Given the description of an element on the screen output the (x, y) to click on. 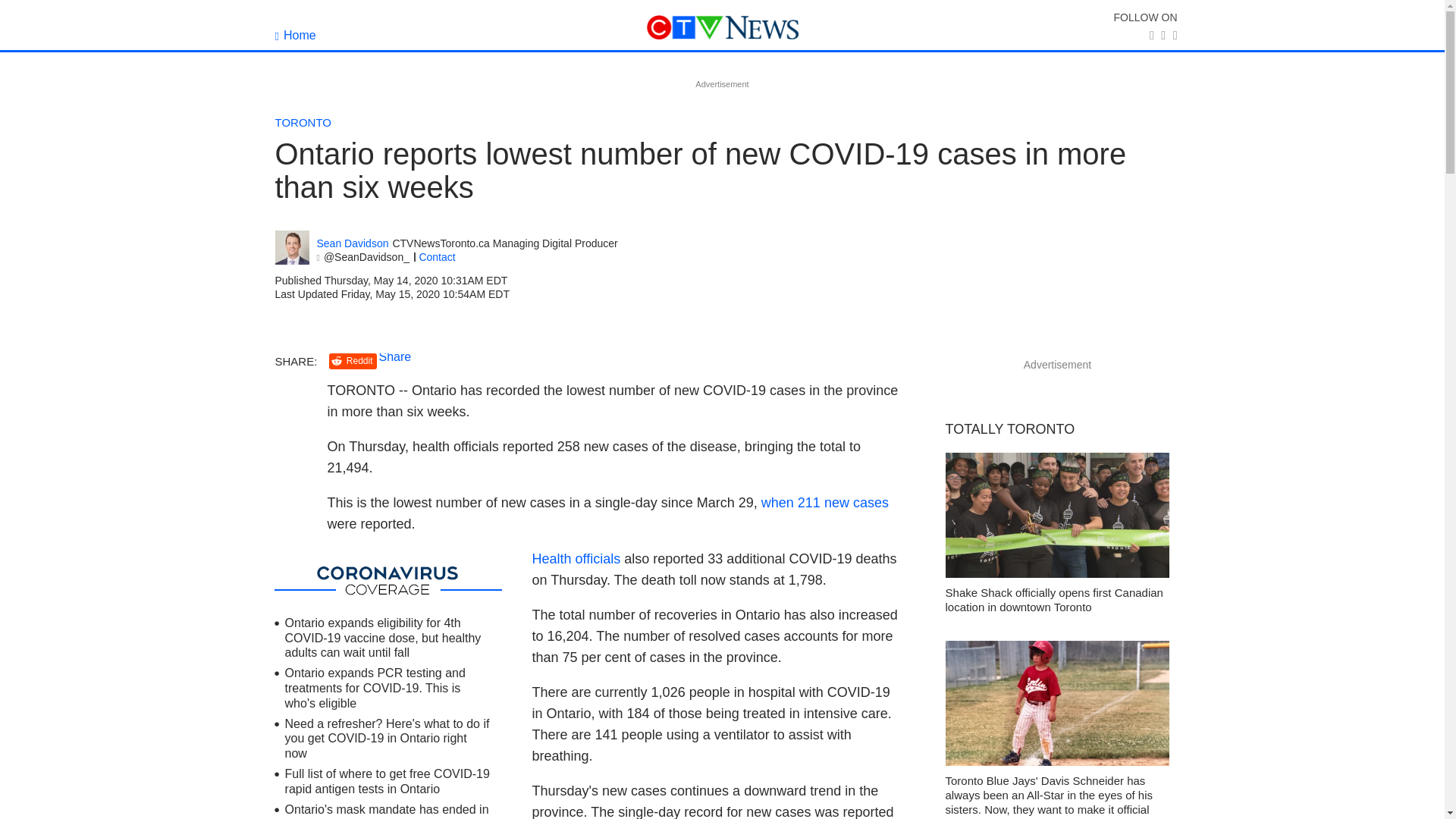
Contact (436, 256)
Home (295, 34)
Share (395, 356)
Health officials (576, 558)
Reddit (353, 360)
Sean Davidson (291, 247)
